Given the description of an element on the screen output the (x, y) to click on. 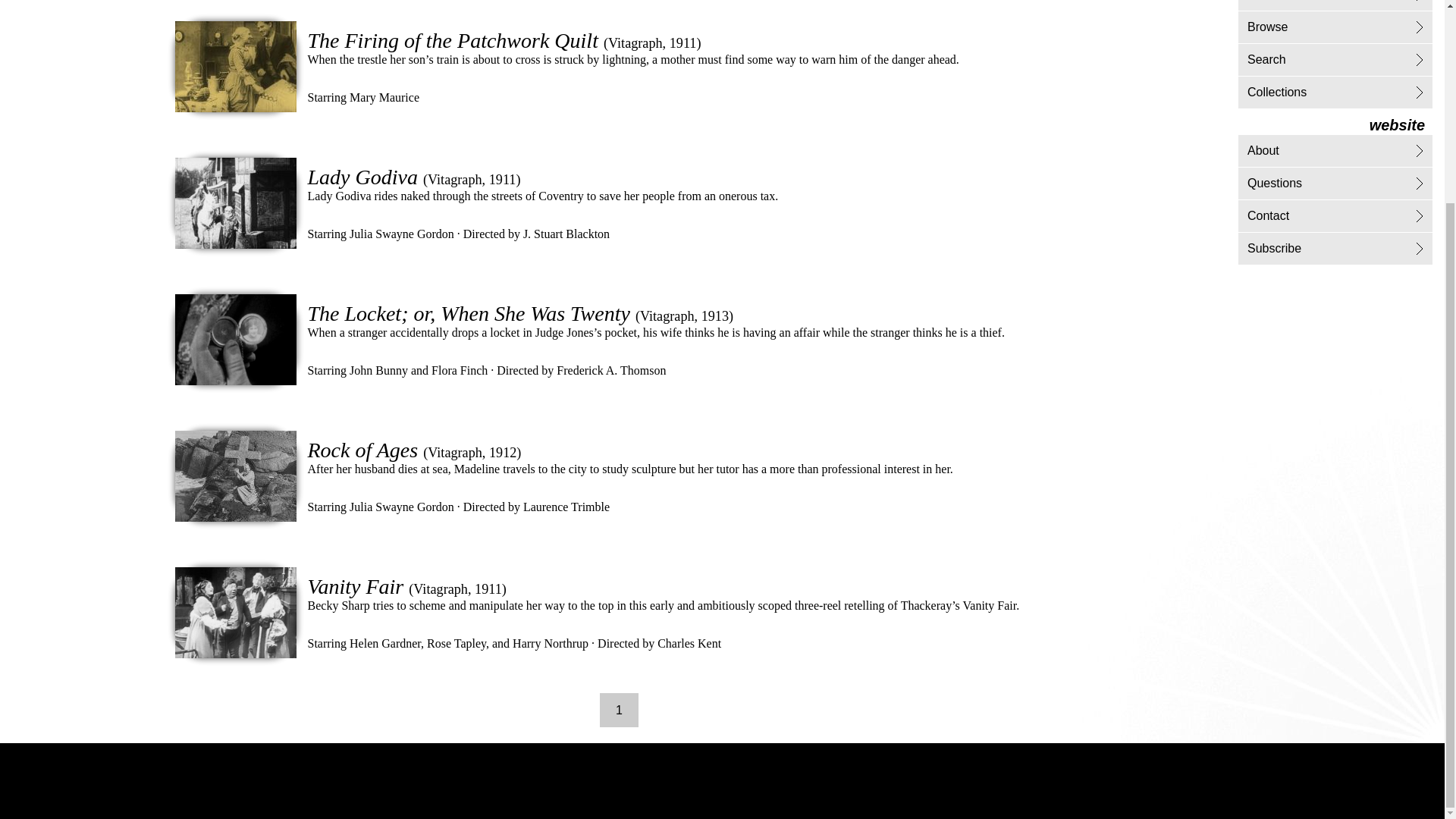
Subscribe (1274, 247)
Browse (1267, 26)
Contact (1267, 215)
Collections (1276, 91)
Questions (1274, 182)
Search (1266, 59)
About (1263, 150)
